Given the description of an element on the screen output the (x, y) to click on. 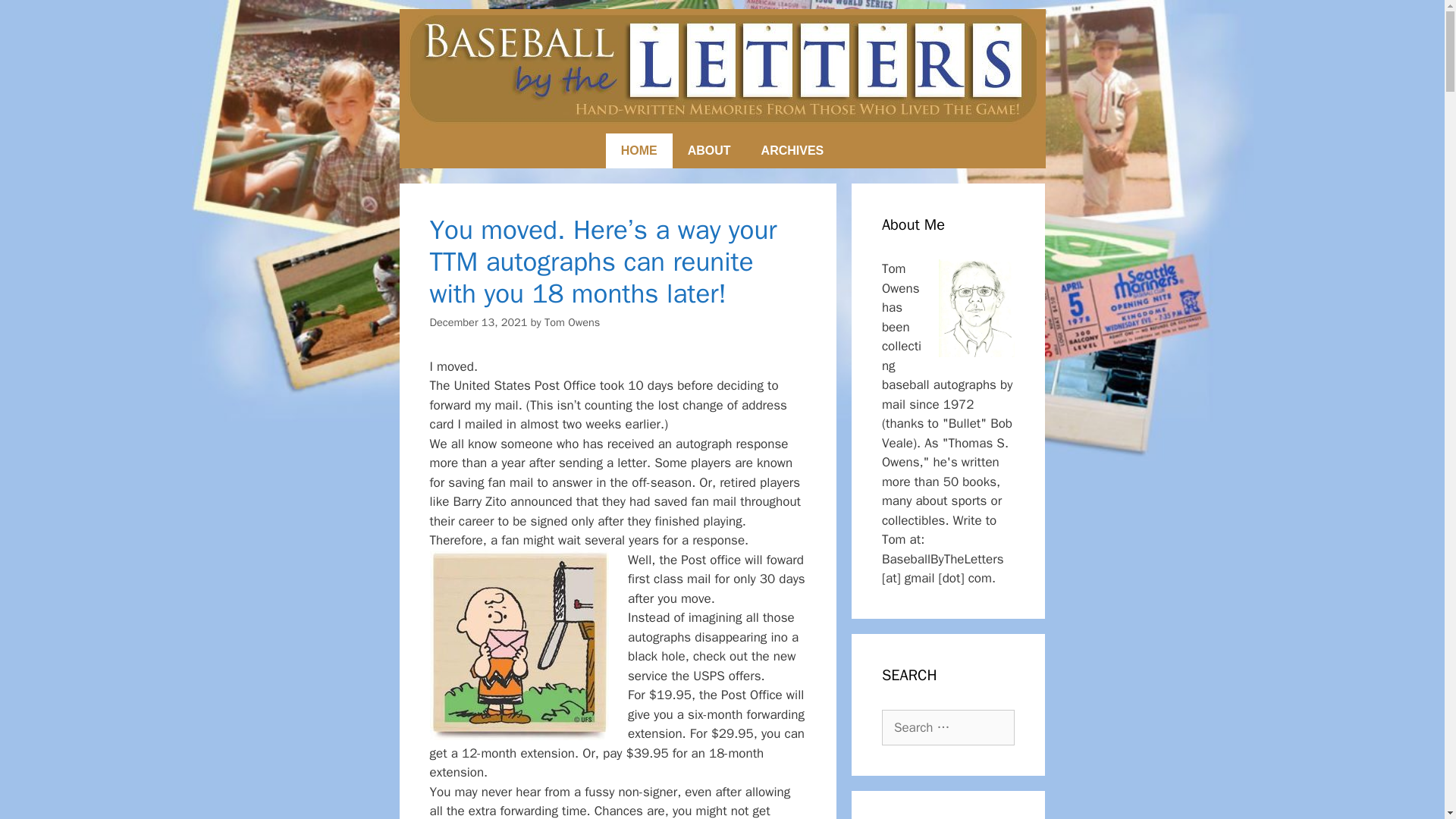
ARCHIVES (792, 150)
Tom Owens (571, 322)
ABOUT (708, 150)
View all posts by Tom Owens (571, 322)
HOME (638, 150)
